Given the description of an element on the screen output the (x, y) to click on. 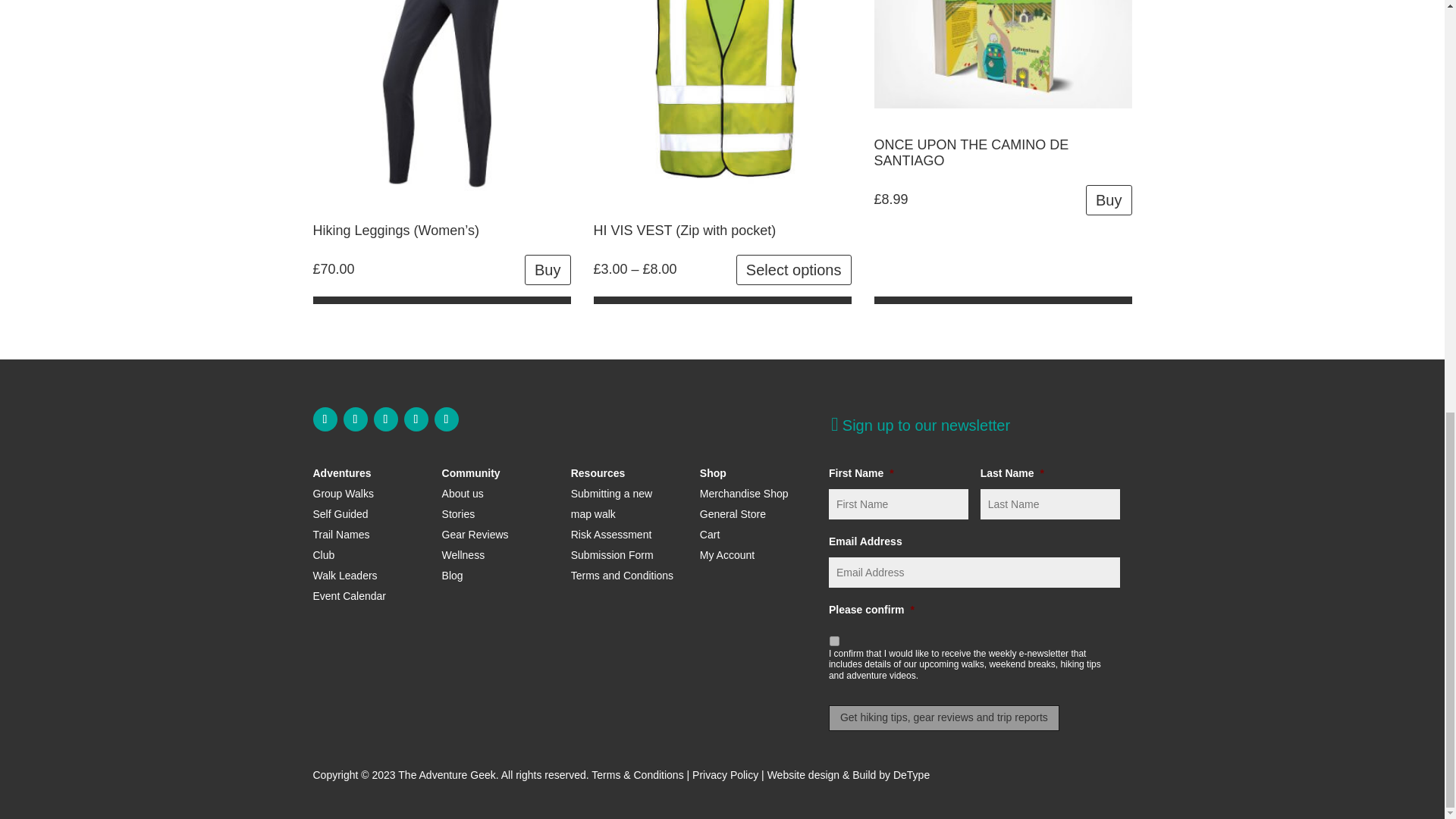
Follow on Facebook (324, 419)
Follow on Youtube (415, 419)
Follow on Instagram (354, 419)
Follow on LinkedIn (445, 419)
Get hiking tips, gear reviews and trip reports (943, 718)
Follow on Twitter (384, 419)
